Given the description of an element on the screen output the (x, y) to click on. 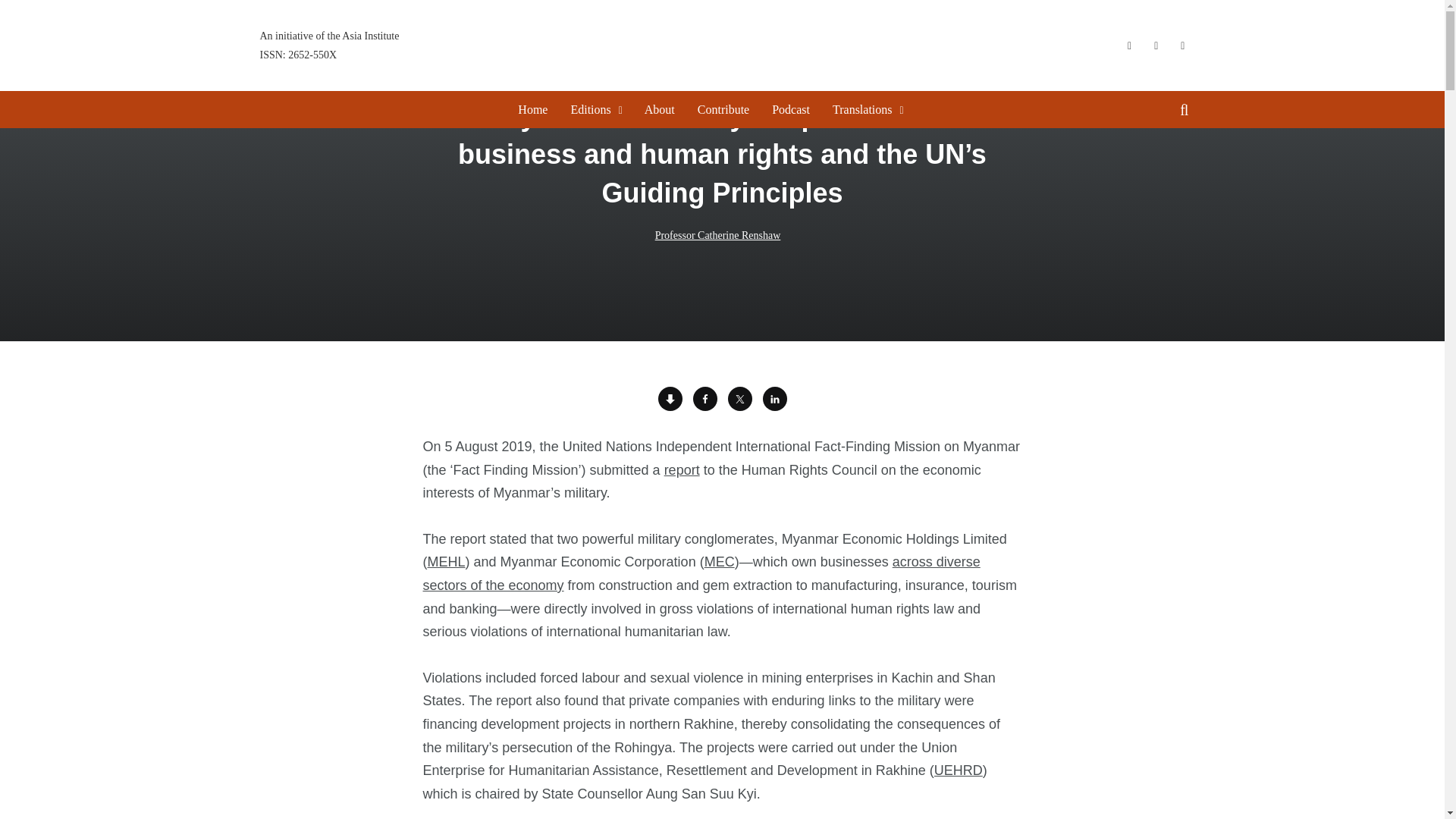
Share on LinkedIn (774, 398)
Home (532, 109)
About (660, 109)
Contribute (723, 109)
Share on Facebook (328, 45)
Share on Twitter (705, 398)
Editions (740, 398)
Download article as PDF (590, 109)
